Given the description of an element on the screen output the (x, y) to click on. 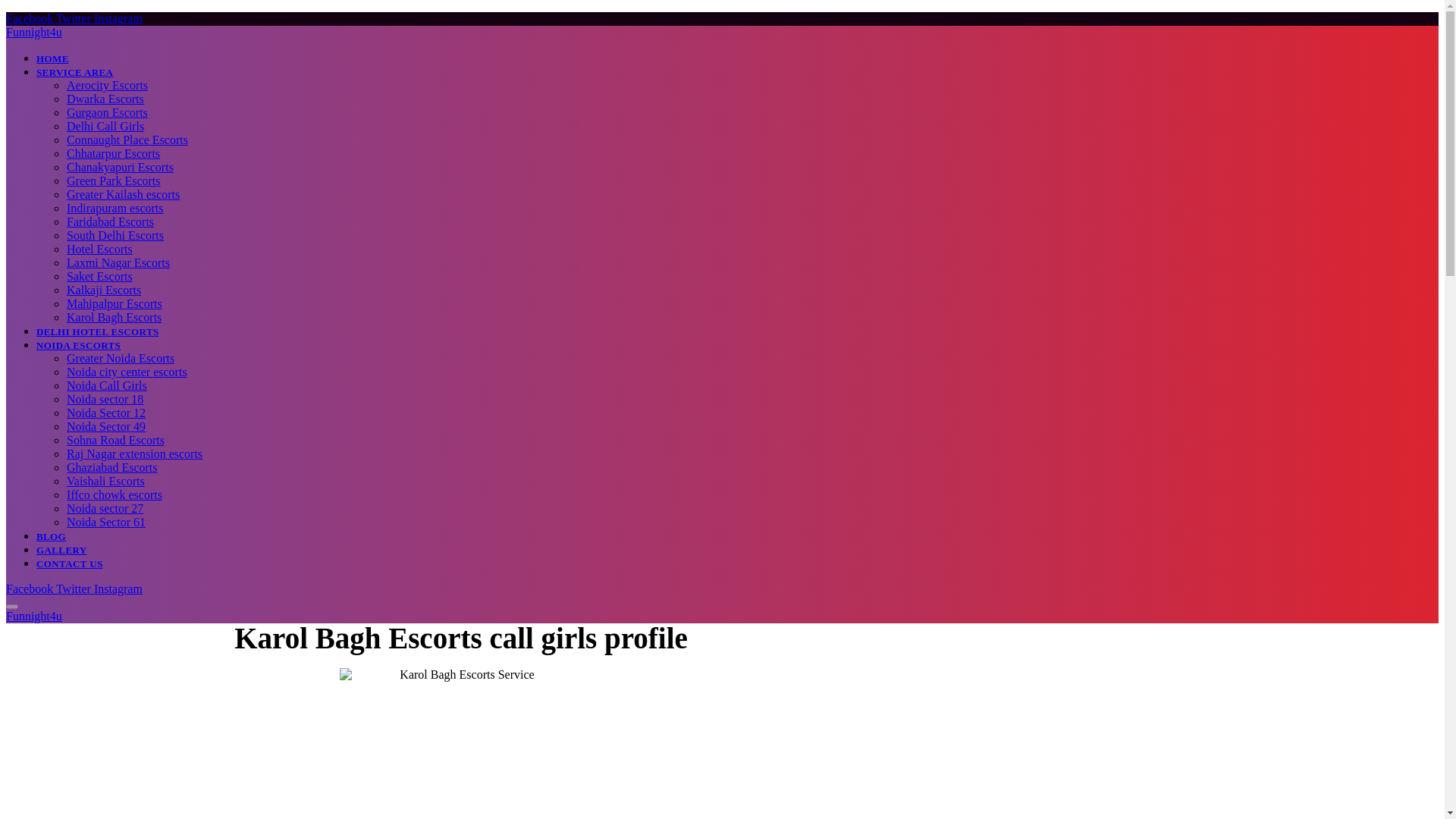
Kalkaji Escorts (103, 289)
Saket Escorts (99, 276)
Iffco chowk escorts (113, 494)
Laxmi Nagar Escorts (118, 262)
Noida sector 18 (104, 399)
Noida Sector 61 (105, 521)
Vaishali Escorts (105, 481)
Connaught Place Escorts (126, 139)
Chhatarpur Escorts (113, 153)
Instagram (118, 18)
NOIDA ESCORTS (78, 345)
Hotel Escorts (99, 248)
Faridabad Escorts (110, 221)
Greater Kailash escorts (122, 194)
Funnight4u (33, 31)
